Given the description of an element on the screen output the (x, y) to click on. 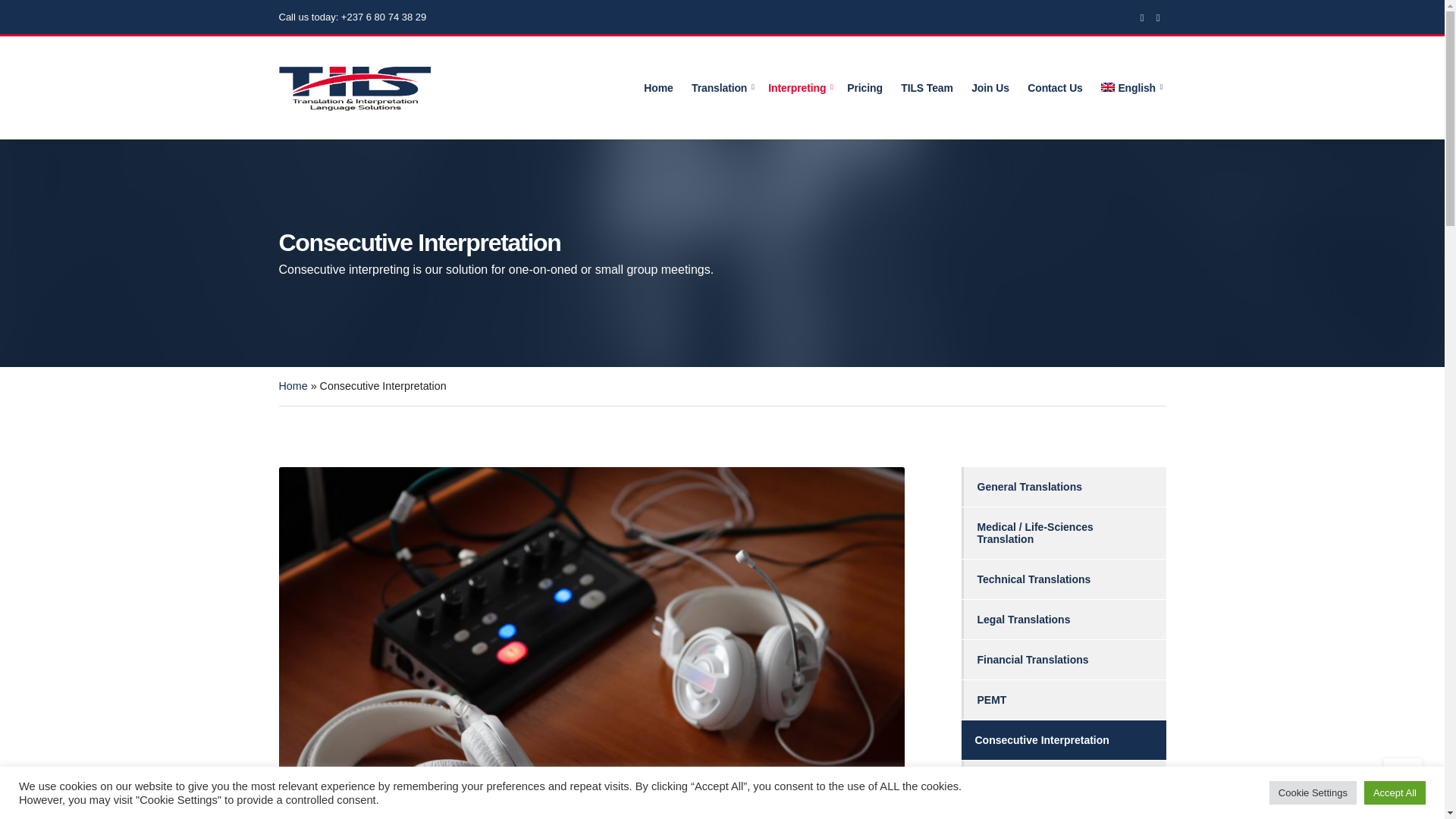
Pricing (864, 87)
Financial Translations (1063, 659)
Home (657, 87)
Consecutive Interpretation (1063, 740)
Contact Us (1055, 87)
Home (293, 386)
English (1128, 87)
TILS Team (927, 87)
PEMT (1063, 699)
Technical Translations (1063, 578)
